Given the description of an element on the screen output the (x, y) to click on. 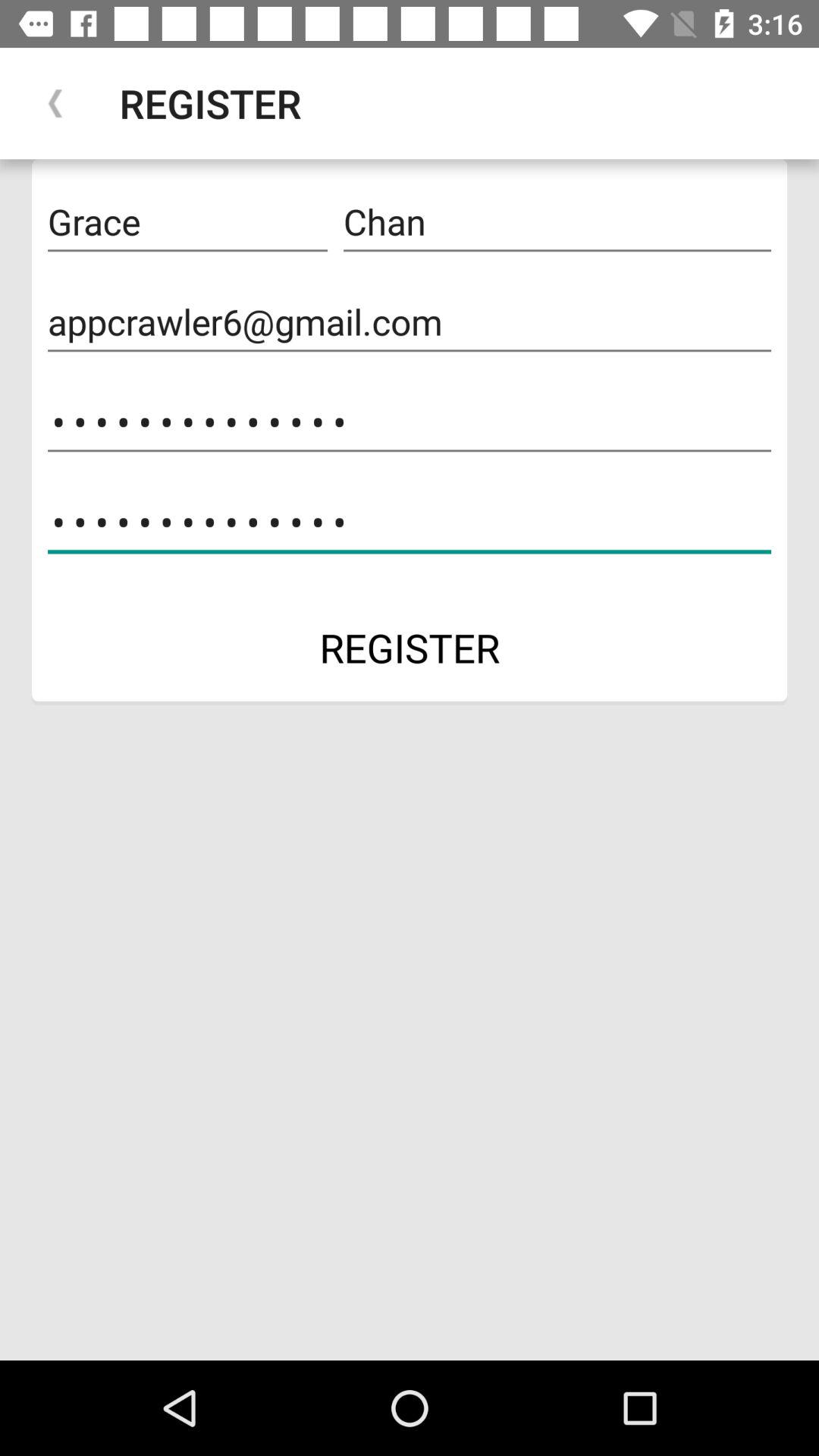
open item at the top right corner (557, 222)
